Given the description of an element on the screen output the (x, y) to click on. 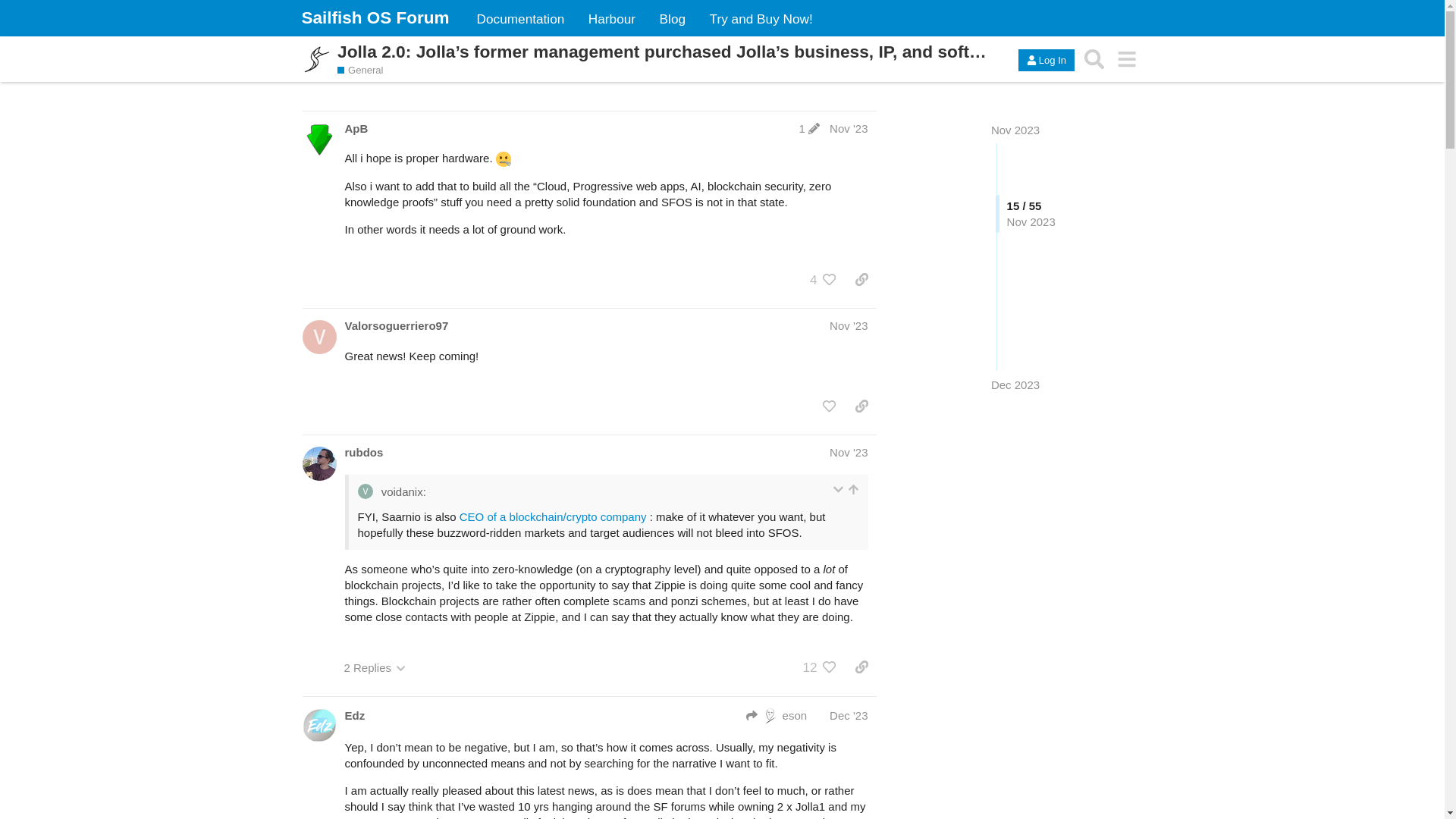
rubdos (362, 452)
30 Nov 2023 21:09 (848, 128)
Blog (672, 18)
Search (1094, 59)
Documentation (520, 18)
like this post (830, 279)
Nov '23 (848, 128)
Nov '23 (848, 325)
Documentation (520, 18)
Sailfish OS Forum (375, 17)
Dec 2023 (1015, 384)
Log In (1045, 60)
Try and Buy Now! (761, 18)
1 (809, 128)
